Given the description of an element on the screen output the (x, y) to click on. 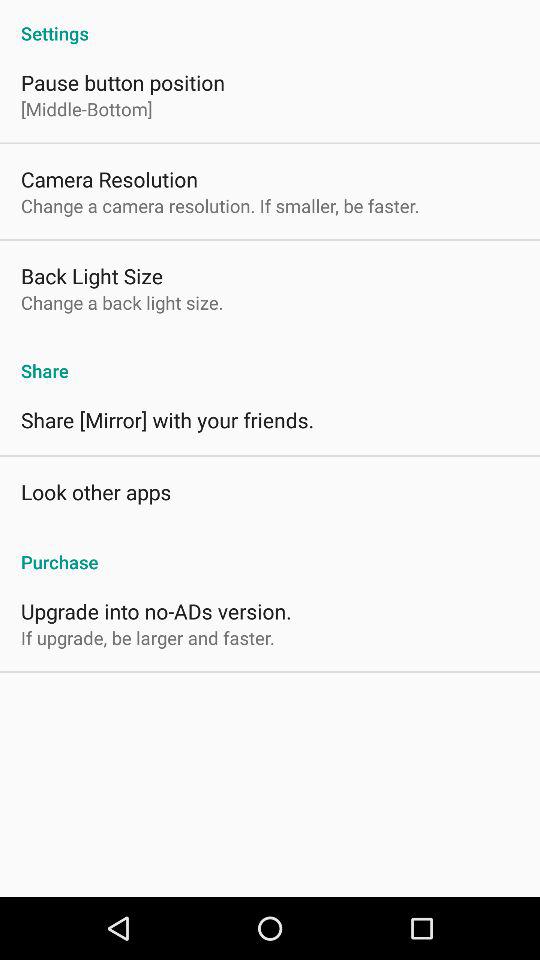
choose the app above the purchase app (96, 491)
